Given the description of an element on the screen output the (x, y) to click on. 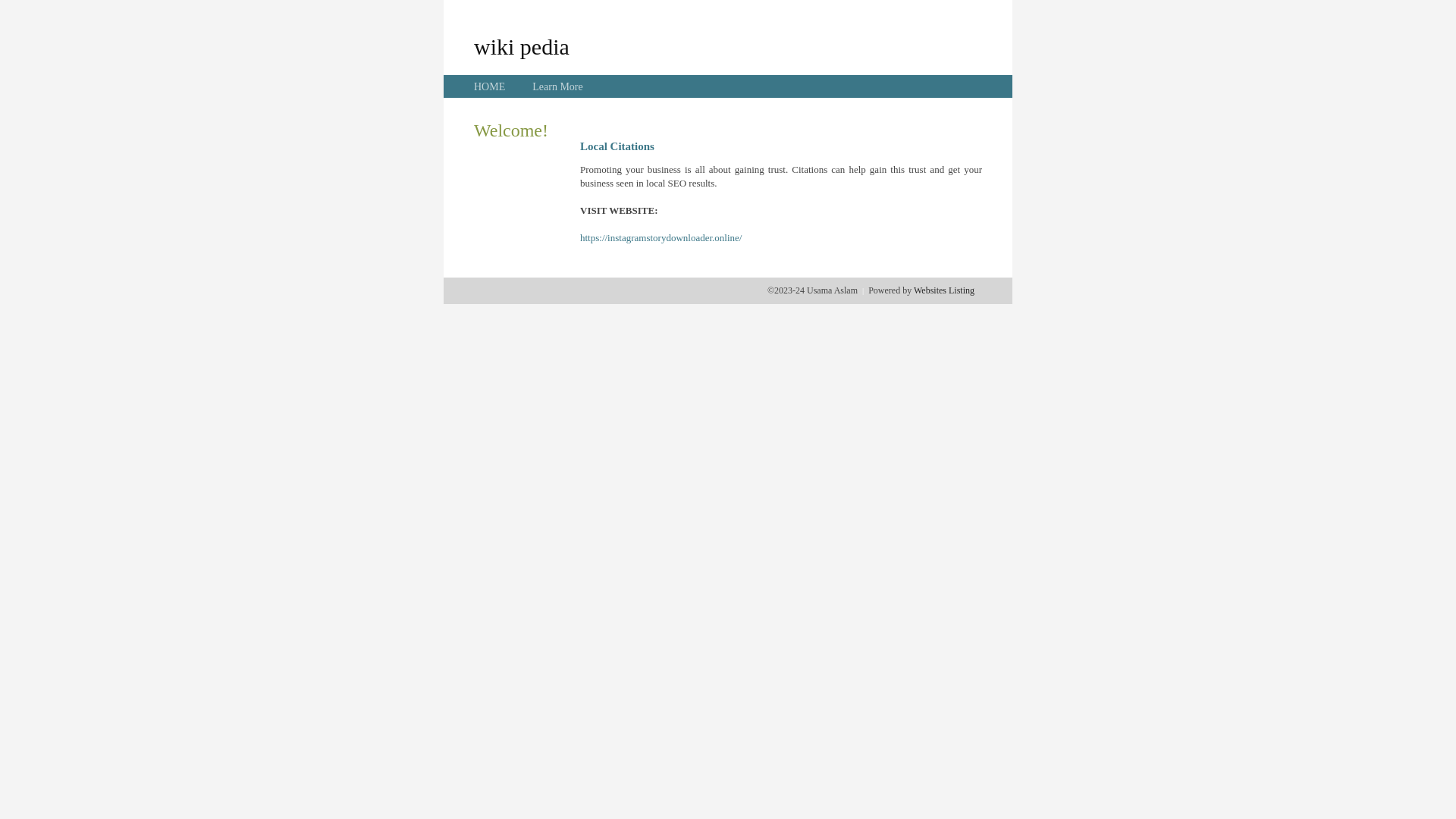
Learn More Element type: text (557, 86)
Websites Listing Element type: text (943, 290)
HOME Element type: text (489, 86)
wiki pedia Element type: text (521, 46)
https://instagramstorydownloader.online/ Element type: text (660, 237)
